Given the description of an element on the screen output the (x, y) to click on. 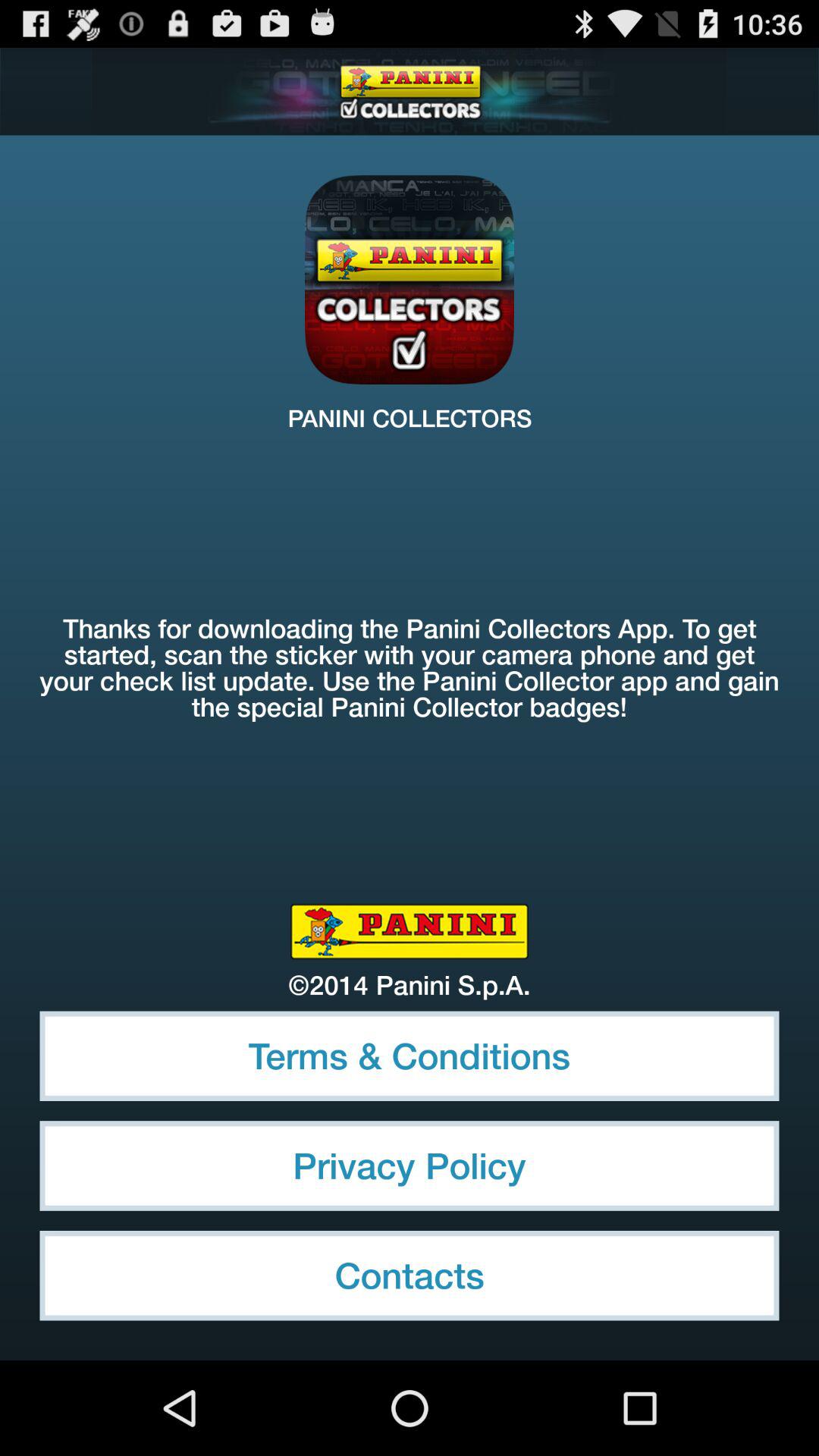
select the icon above contacts (409, 1165)
